Given the description of an element on the screen output the (x, y) to click on. 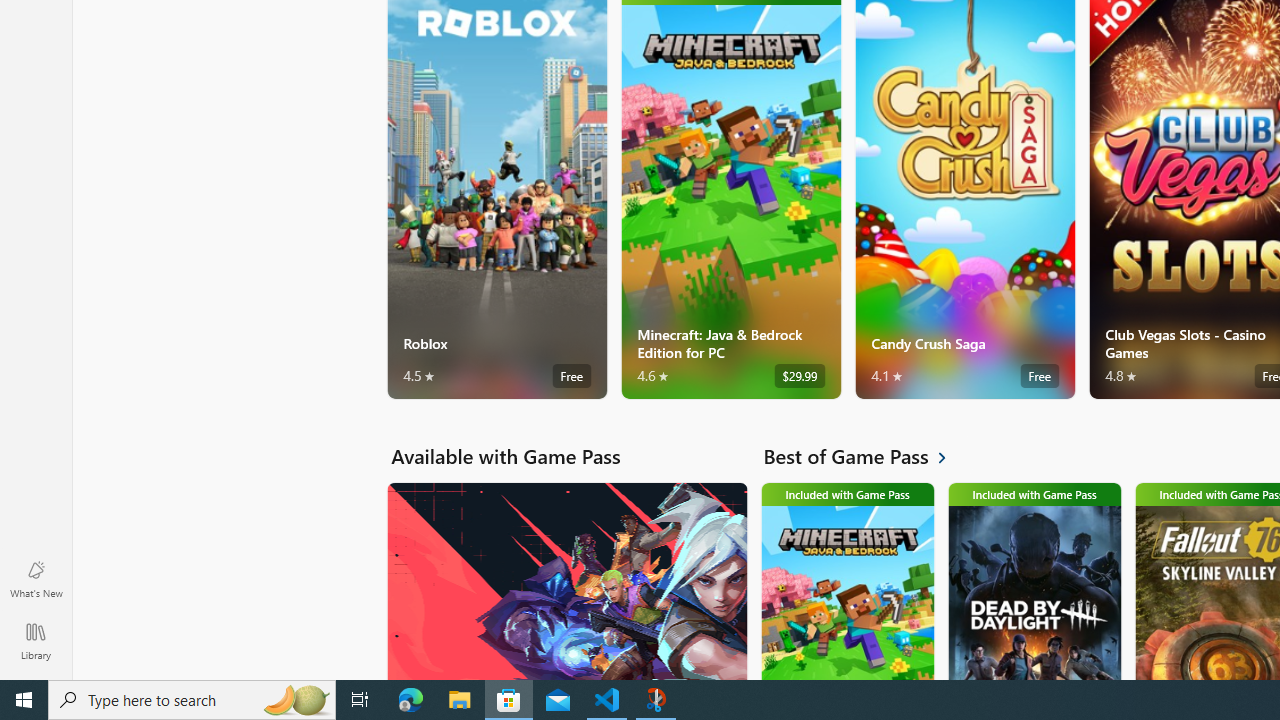
See all  Best of Game Pass (866, 455)
Available with Game Pass. VALORANT (566, 580)
What's New (35, 578)
Library (35, 640)
